Given the description of an element on the screen output the (x, y) to click on. 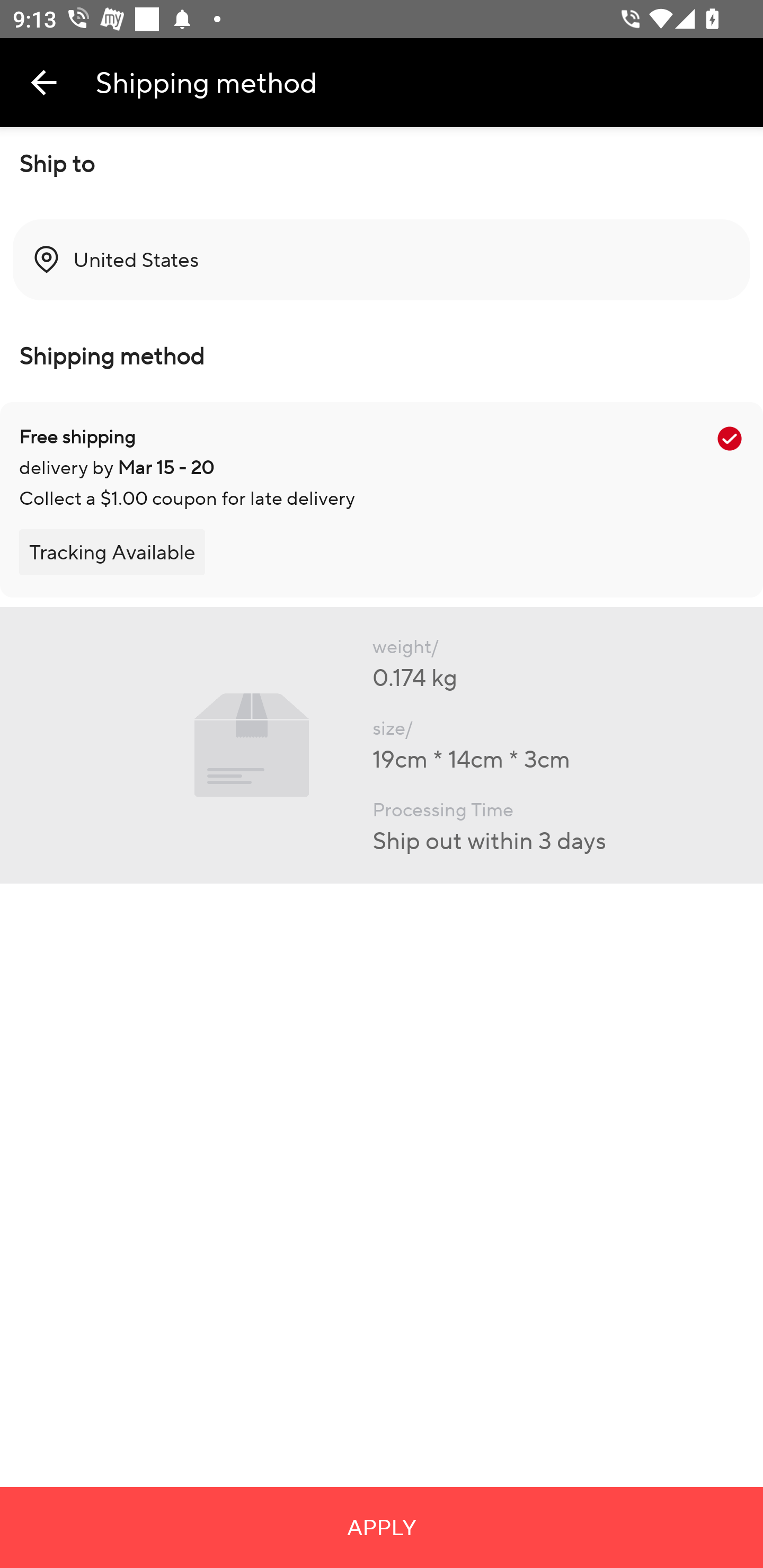
 United States (381, 260)
APPLY (381, 1527)
